Given the description of an element on the screen output the (x, y) to click on. 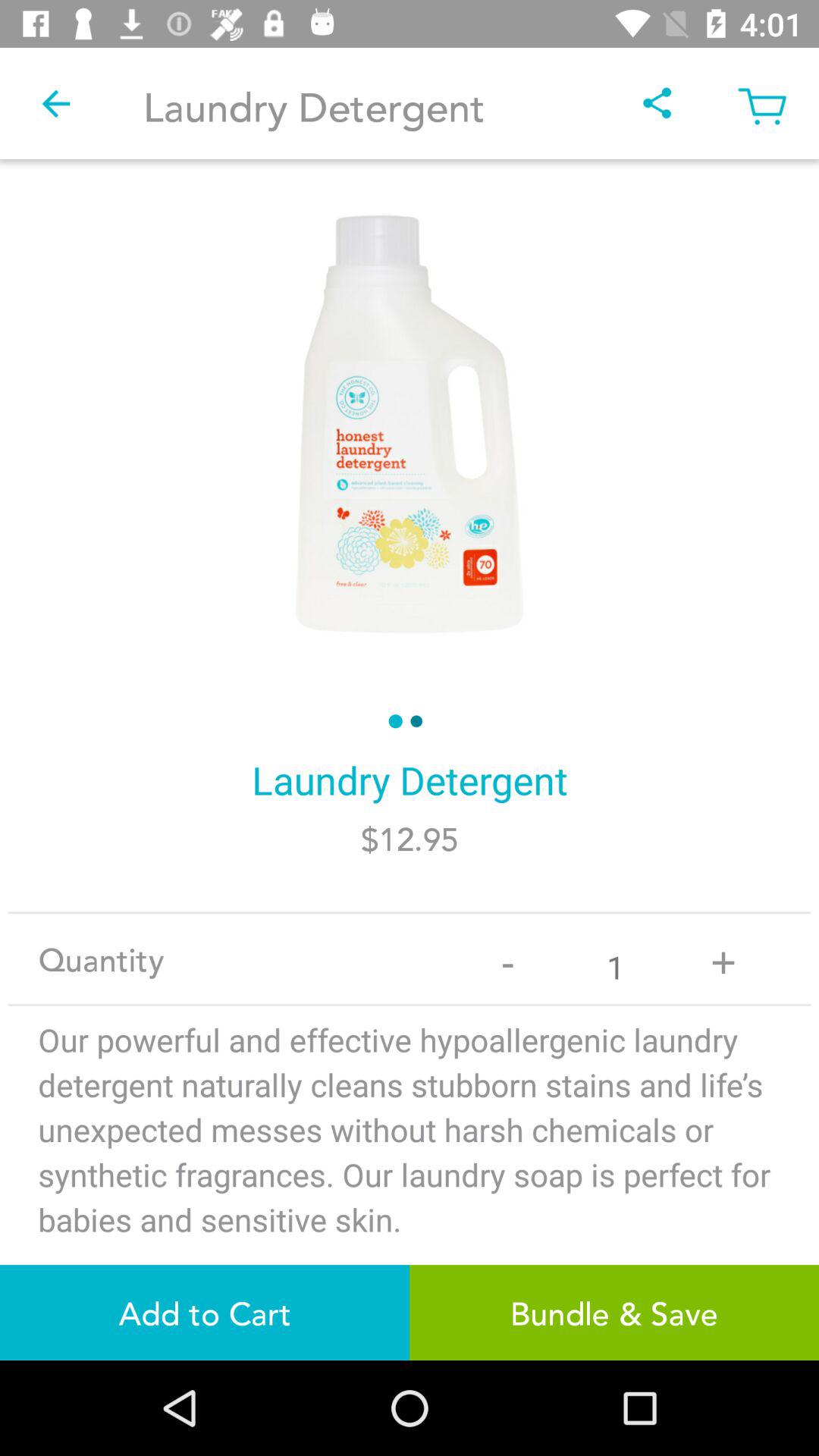
choose the item next to bundle & save item (204, 1312)
